Given the description of an element on the screen output the (x, y) to click on. 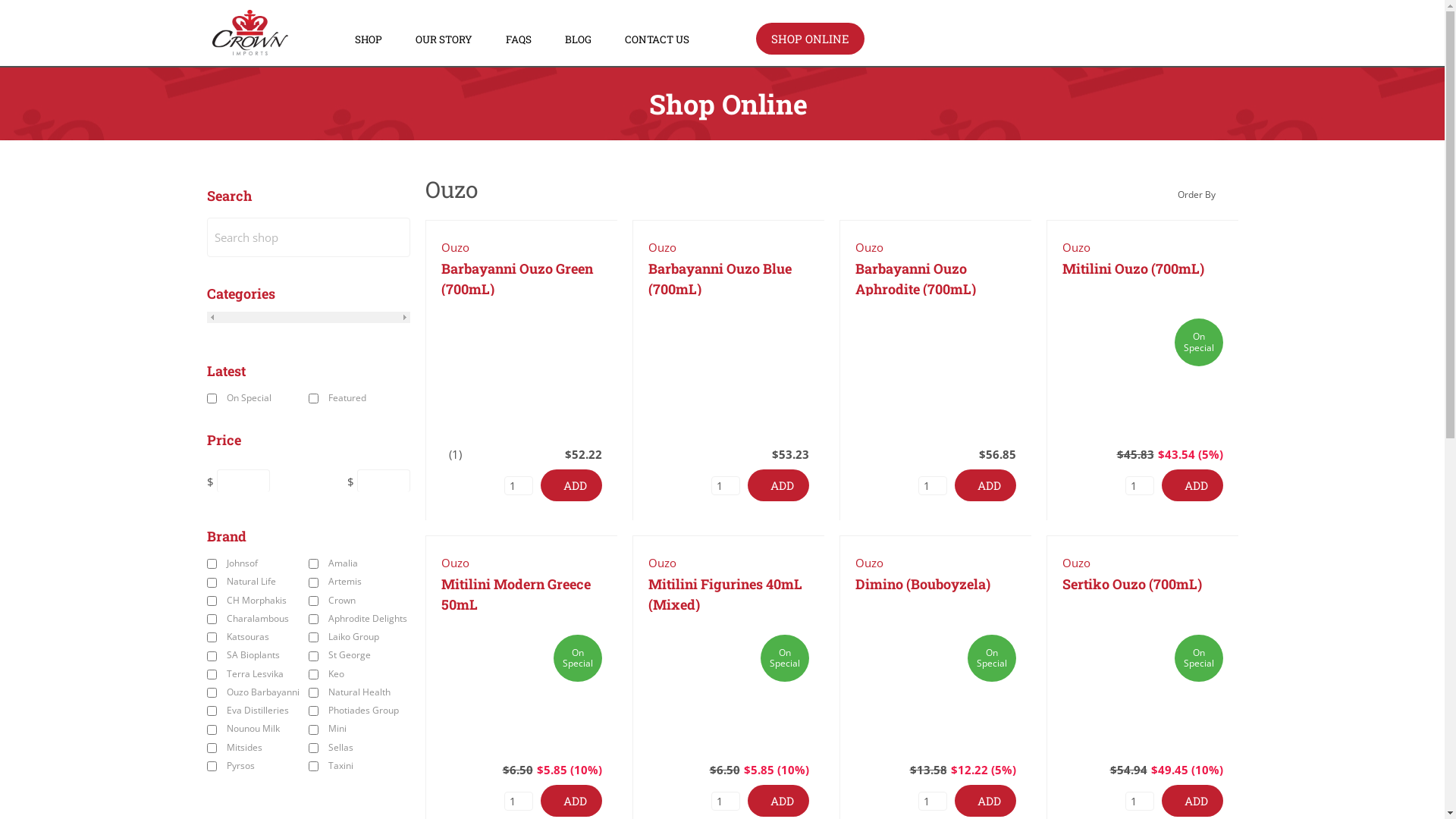
Ouzo Element type: text (1075, 562)
SHOP ONLINE Element type: text (810, 38)
Ouzo Element type: text (455, 562)
ADD Element type: text (984, 485)
Dimino (Bouboyzela) Element type: hover (935, 682)
Crown Imports Element type: hover (250, 32)
FAQS Element type: text (518, 39)
ADD Element type: text (984, 800)
BLOG Element type: text (577, 39)
Mitilini Figurines 40mL (Mixed) Element type: hover (728, 682)
Barbayanni Ouzo Green (700mL) Element type: hover (521, 367)
Ouzo Element type: text (661, 246)
Ouzo Element type: text (661, 562)
Ouzo Element type: text (455, 246)
ADD Element type: text (570, 485)
ADD Element type: text (570, 800)
Ouzo Element type: text (1075, 246)
CONTACT US Element type: text (656, 39)
Mitilini Modern Greece 50mL Element type: hover (521, 682)
Sertiko Ouzo (700mL) Element type: hover (1142, 682)
ADD Element type: text (778, 800)
Barbayanni Ouzo Blue (700mL) Element type: hover (728, 367)
Crown Imports Element type: hover (250, 50)
ADD Element type: text (778, 485)
SHOP ONLINE Element type: text (810, 38)
SHOP Element type: text (368, 39)
OUR STORY Element type: text (443, 39)
Ouzo Element type: text (869, 562)
Mitilini Ouzo (700mL) Element type: hover (1142, 367)
Barbayanni Ouzo Aphrodite (700mL) Element type: hover (935, 367)
ADD Element type: text (1192, 800)
Ouzo Element type: text (869, 246)
ADD Element type: text (1192, 485)
